Given the description of an element on the screen output the (x, y) to click on. 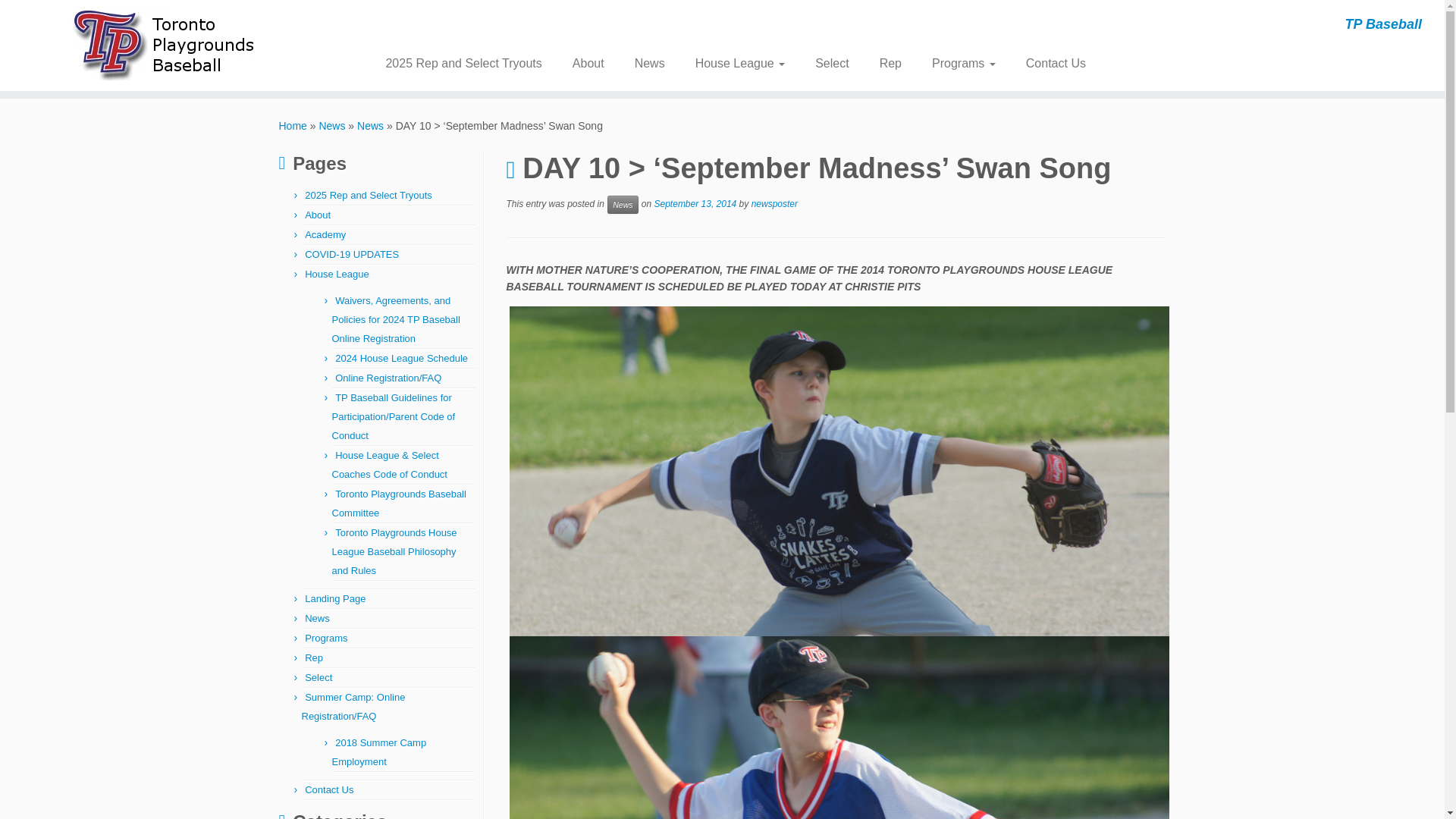
News (331, 125)
News (370, 125)
House League (739, 62)
News (331, 125)
Select (831, 62)
2018 Summer Camp Employment (378, 752)
2025 Rep and Select Tryouts (468, 62)
2024 House League Schedule (400, 357)
View all posts in News (622, 204)
House League (336, 274)
Toronto Playgrounds Baseball Association (293, 125)
News (649, 62)
Rep (313, 657)
News (370, 125)
